Given the description of an element on the screen output the (x, y) to click on. 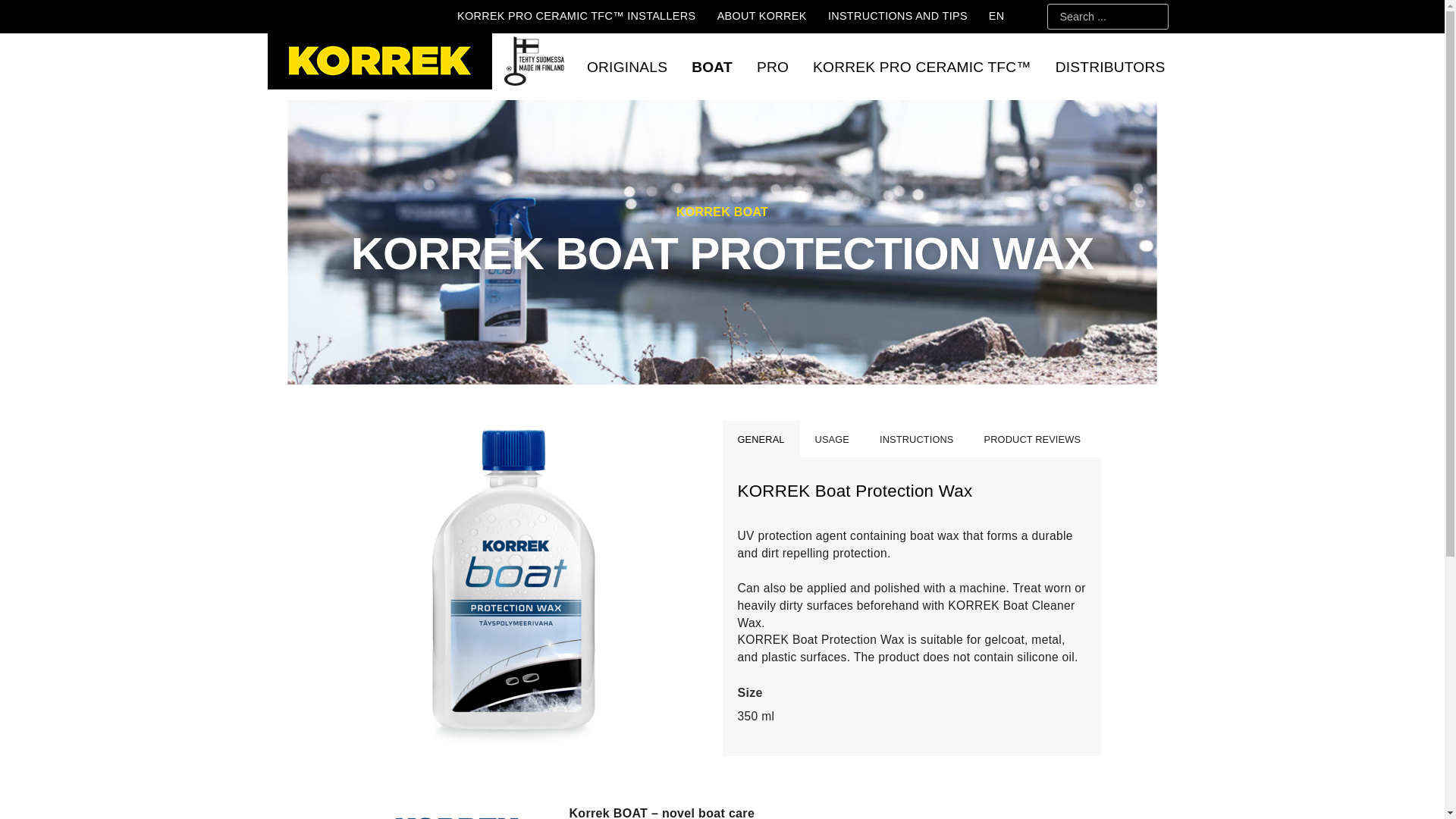
BOAT (711, 66)
ABOUT KORREK (761, 17)
DISTRIBUTORS (1110, 66)
INSTRUCTIONS AND TIPS (897, 17)
EN (1007, 17)
PRO (773, 66)
KORREK Boat Protection Wax (513, 742)
Search (1149, 16)
KORREK BOAT (722, 212)
ORIGINALS (626, 66)
